Given the description of an element on the screen output the (x, y) to click on. 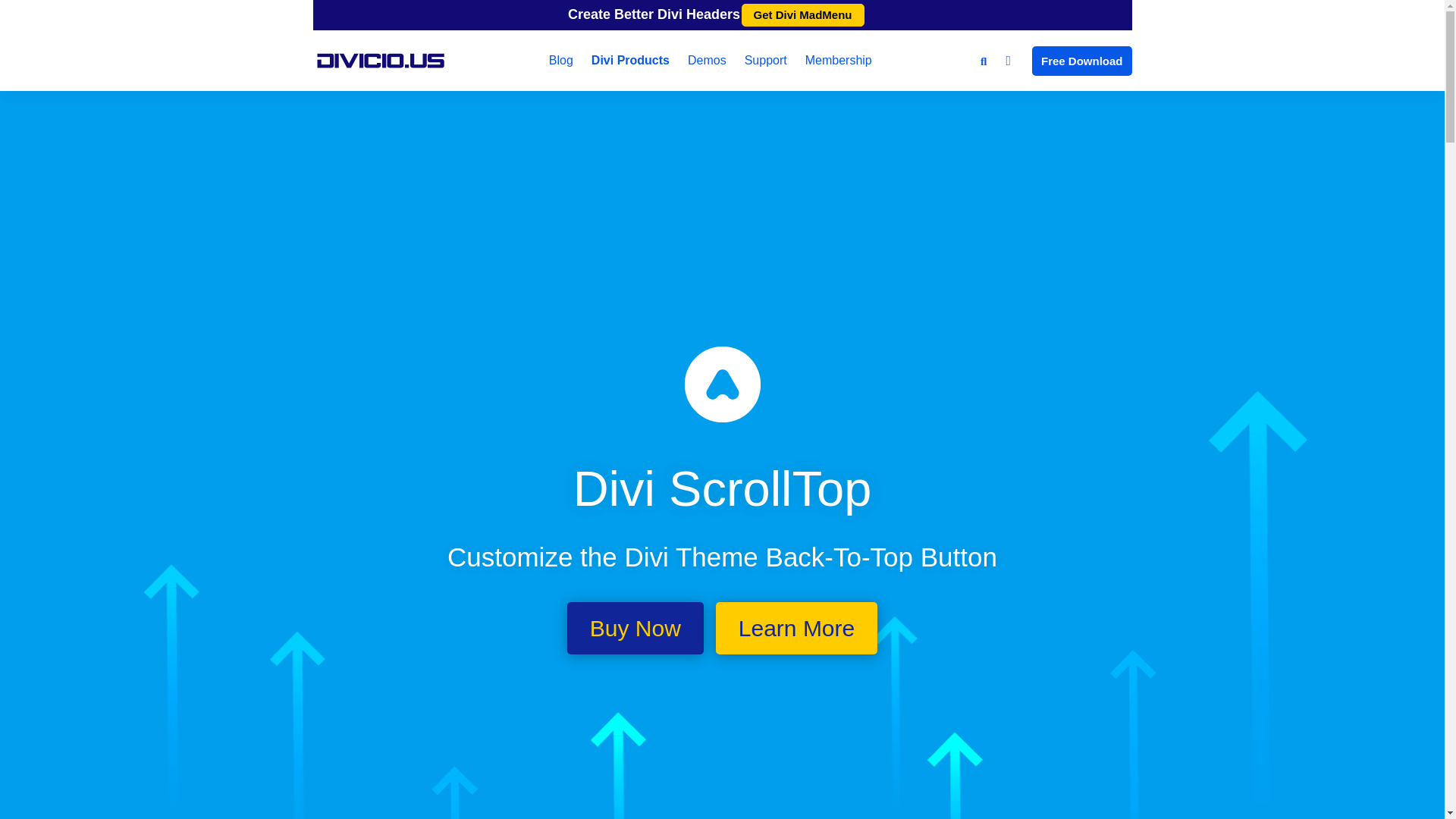
Divi Products (630, 60)
Demos (706, 60)
Membership (838, 60)
Get Divi MadMenu (802, 15)
Support (765, 60)
